Given the description of an element on the screen output the (x, y) to click on. 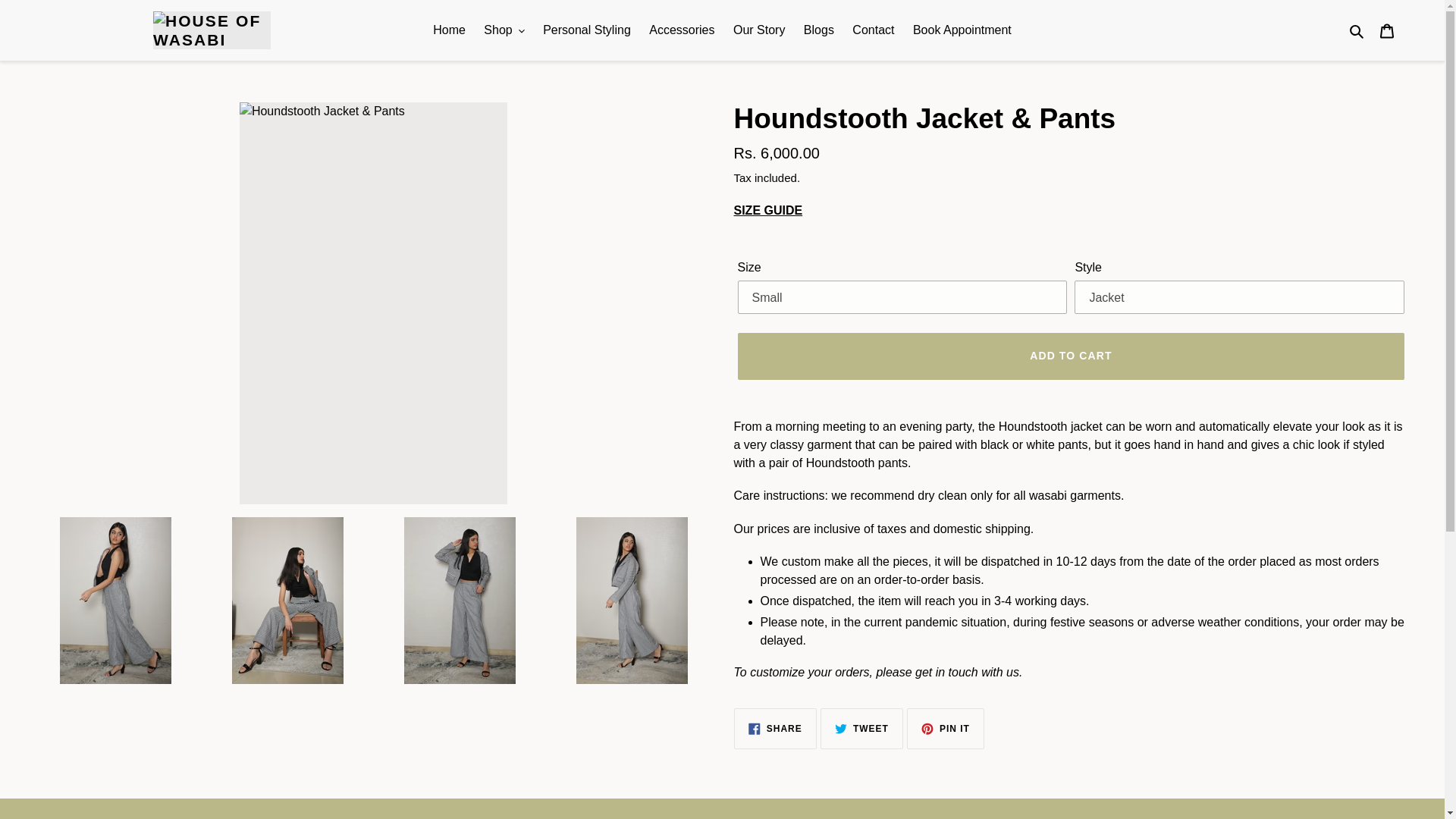
Contact (872, 29)
Accessories (682, 29)
Shop (503, 29)
Cart (1387, 29)
Book Appointment (962, 29)
Blogs (818, 29)
Our Story (758, 29)
Personal Styling (587, 29)
Search (1357, 30)
Home (449, 29)
